Given the description of an element on the screen output the (x, y) to click on. 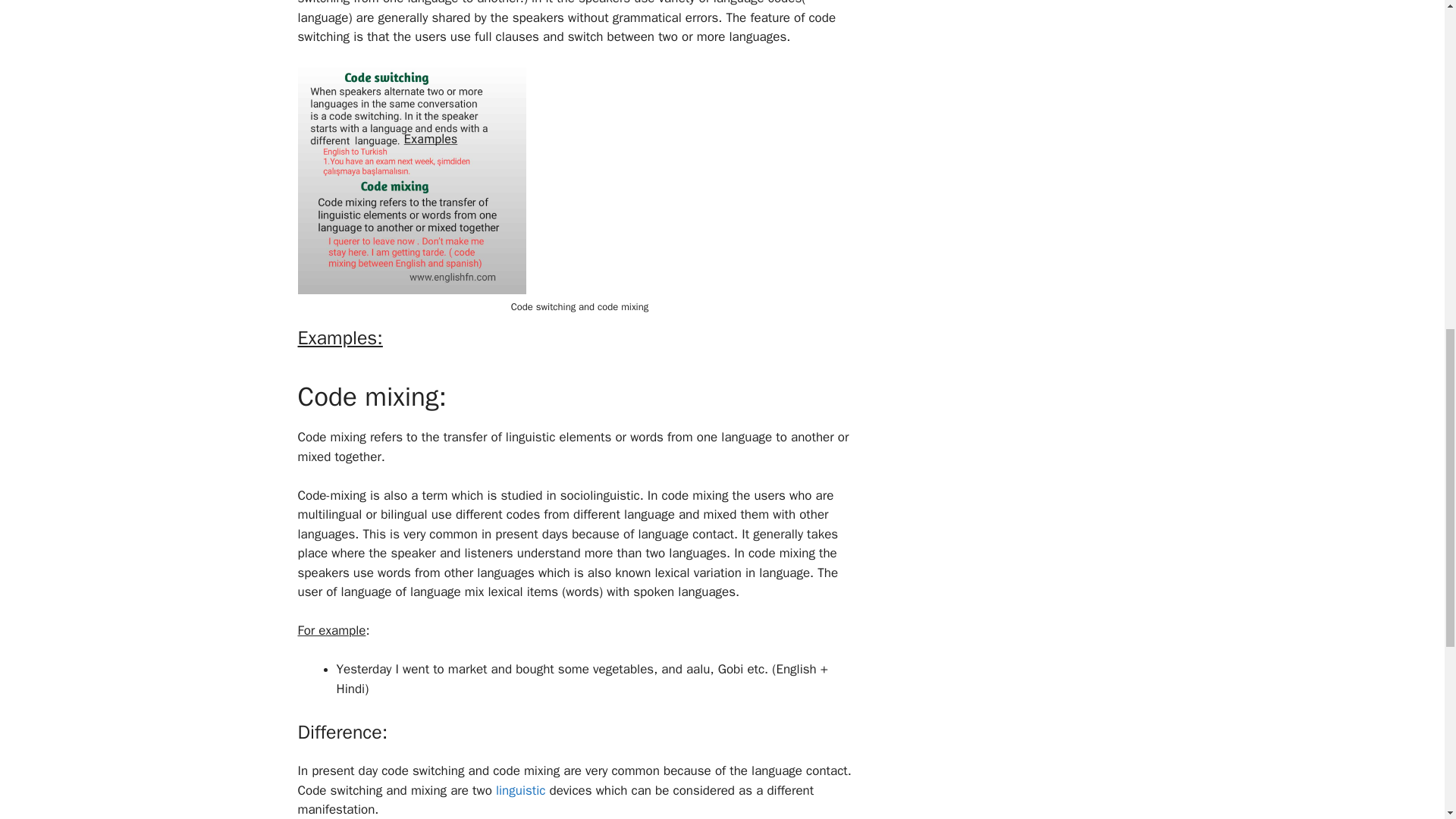
linguistic (519, 790)
